Given the description of an element on the screen output the (x, y) to click on. 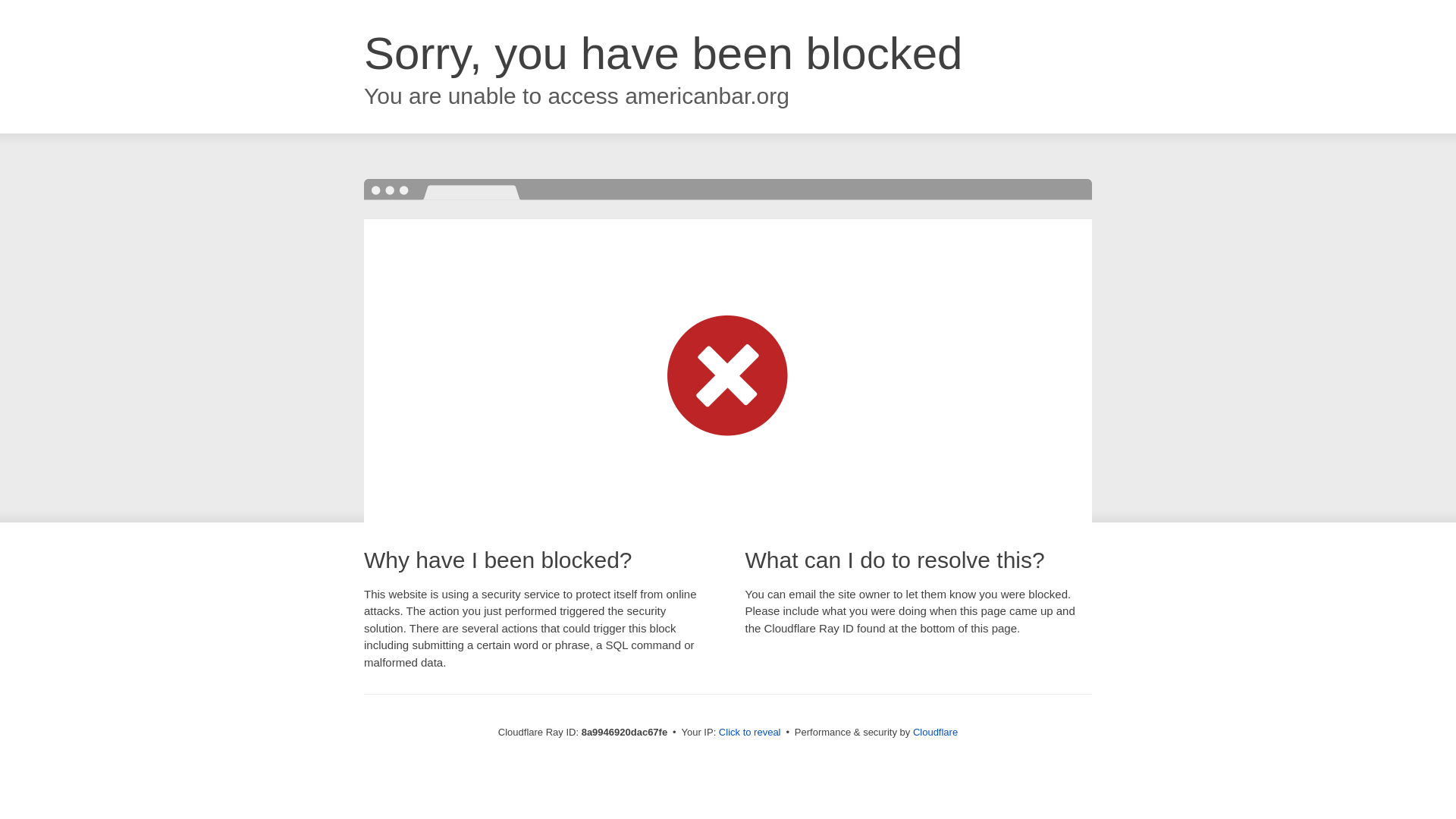
Click to reveal (749, 732)
Cloudflare (935, 731)
